Given the description of an element on the screen output the (x, y) to click on. 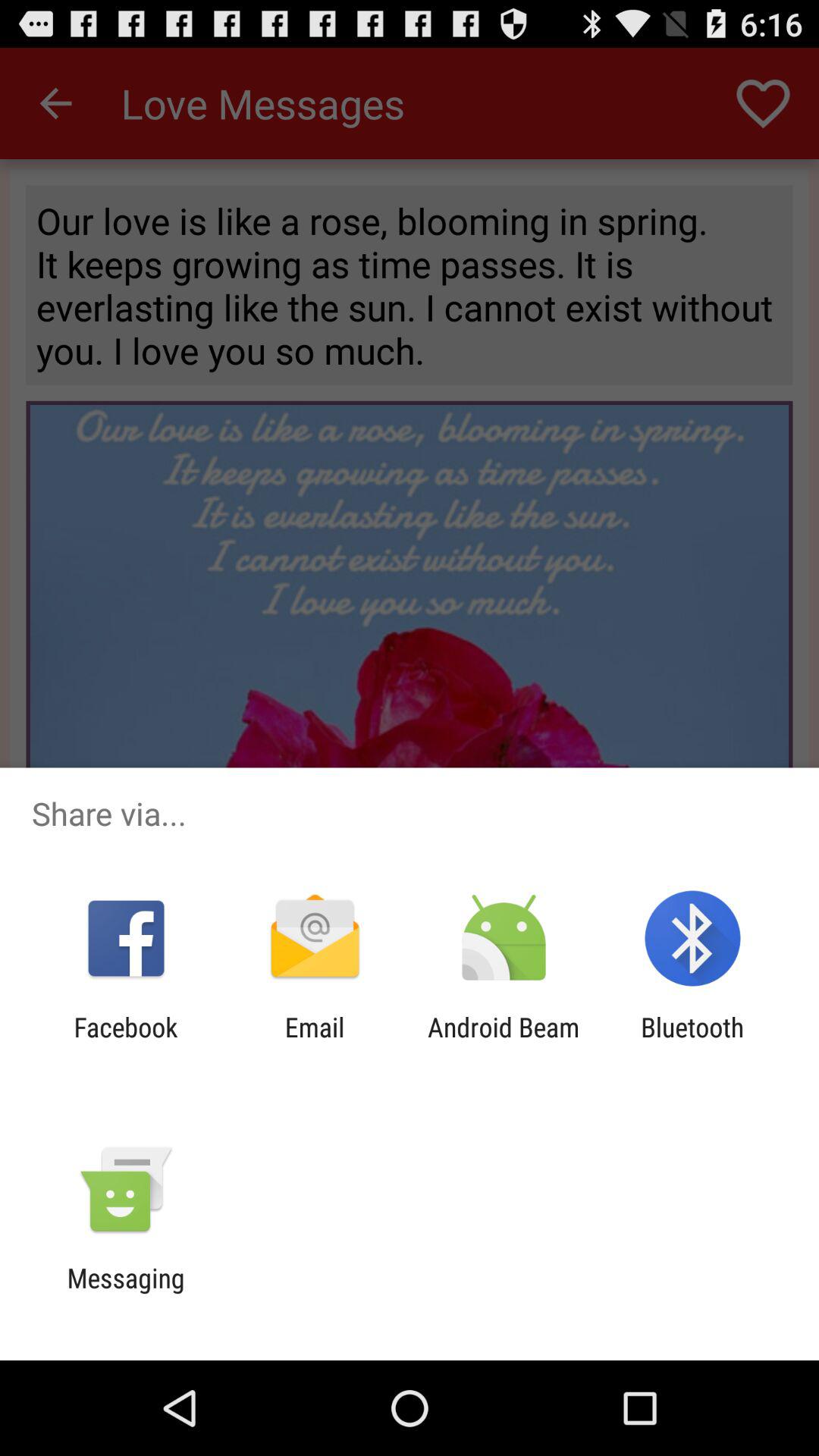
choose the item to the right of android beam (691, 1042)
